Given the description of an element on the screen output the (x, y) to click on. 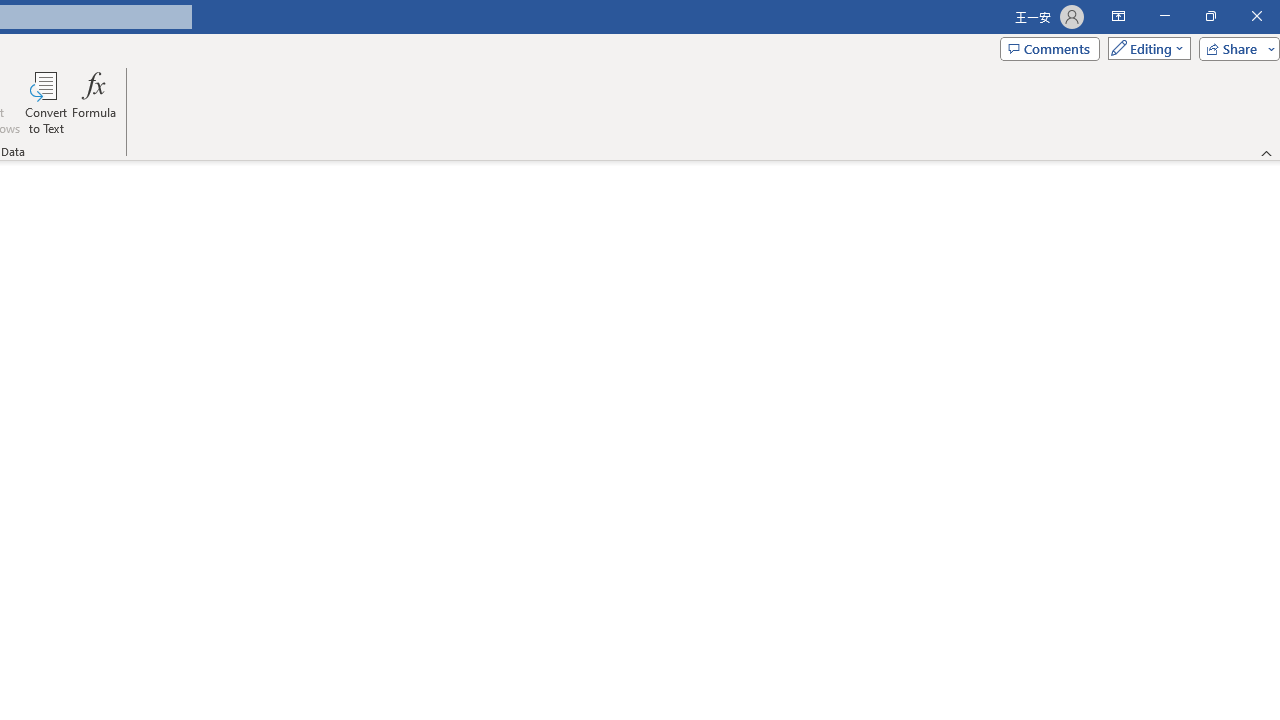
Editing (1144, 47)
Convert to Text... (46, 102)
Formula... (94, 102)
